Given the description of an element on the screen output the (x, y) to click on. 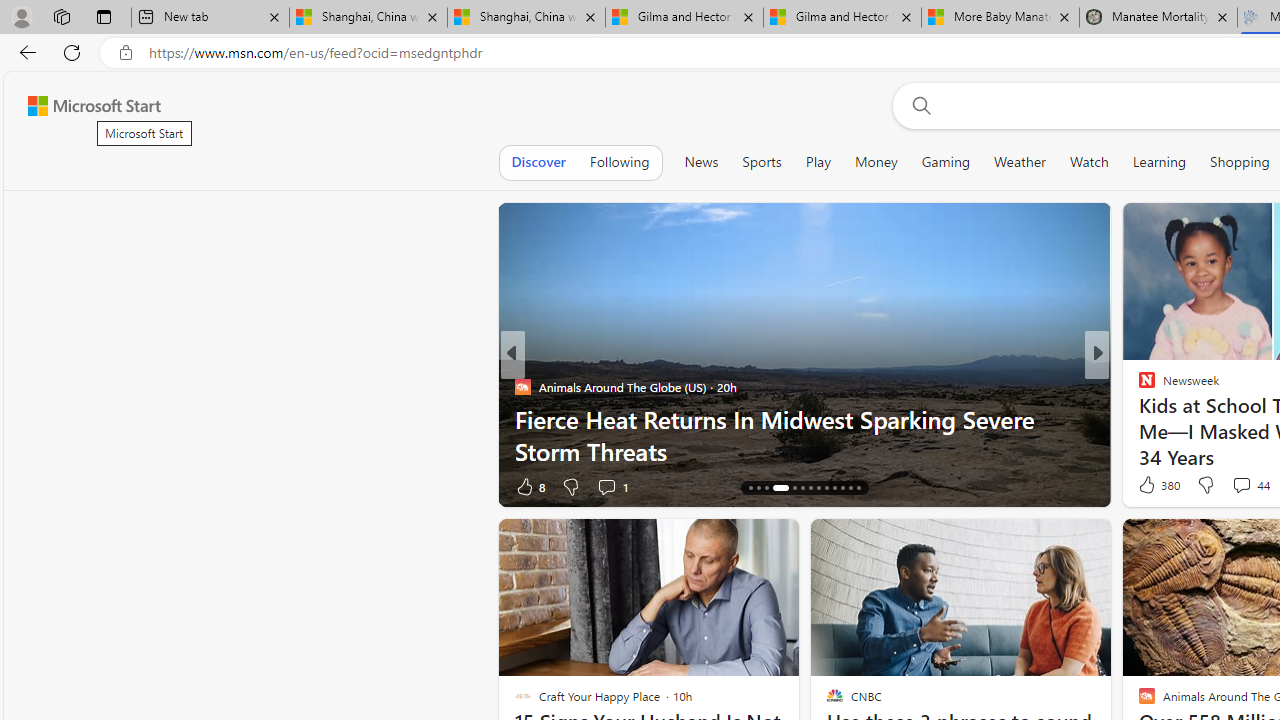
View comments 16 Comment (1237, 486)
